Given the description of an element on the screen output the (x, y) to click on. 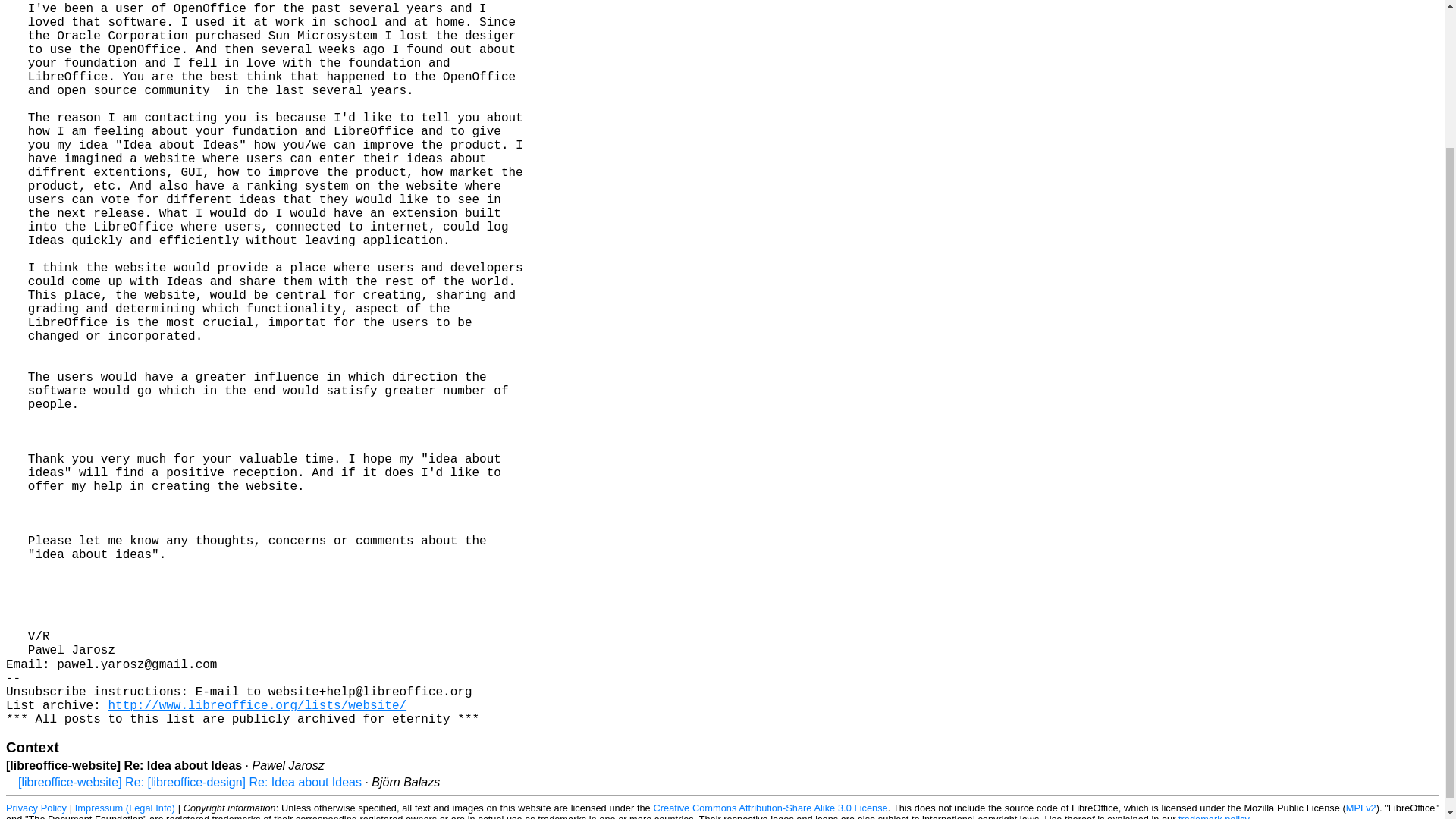
Creative Commons Attribution-Share Alike 3.0 License (770, 808)
Privacy Policy (35, 808)
MPLv2 (1360, 808)
